Given the description of an element on the screen output the (x, y) to click on. 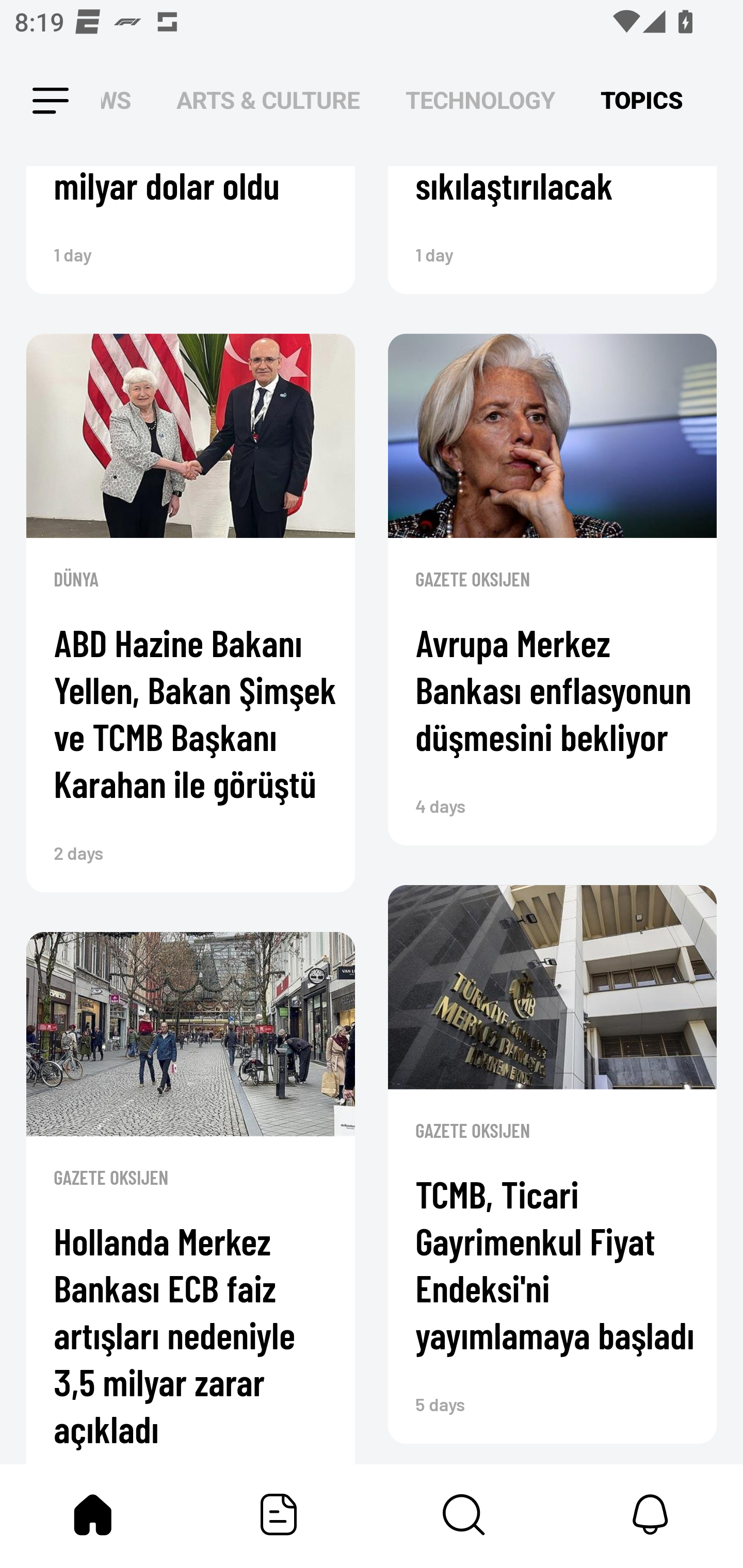
Leading Icon (32, 101)
NEWS (121, 100)
ARTS & CULTURE (268, 100)
TECHNOLOGY (480, 100)
Featured (278, 1514)
Content Store (464, 1514)
Notifications (650, 1514)
